Given the description of an element on the screen output the (x, y) to click on. 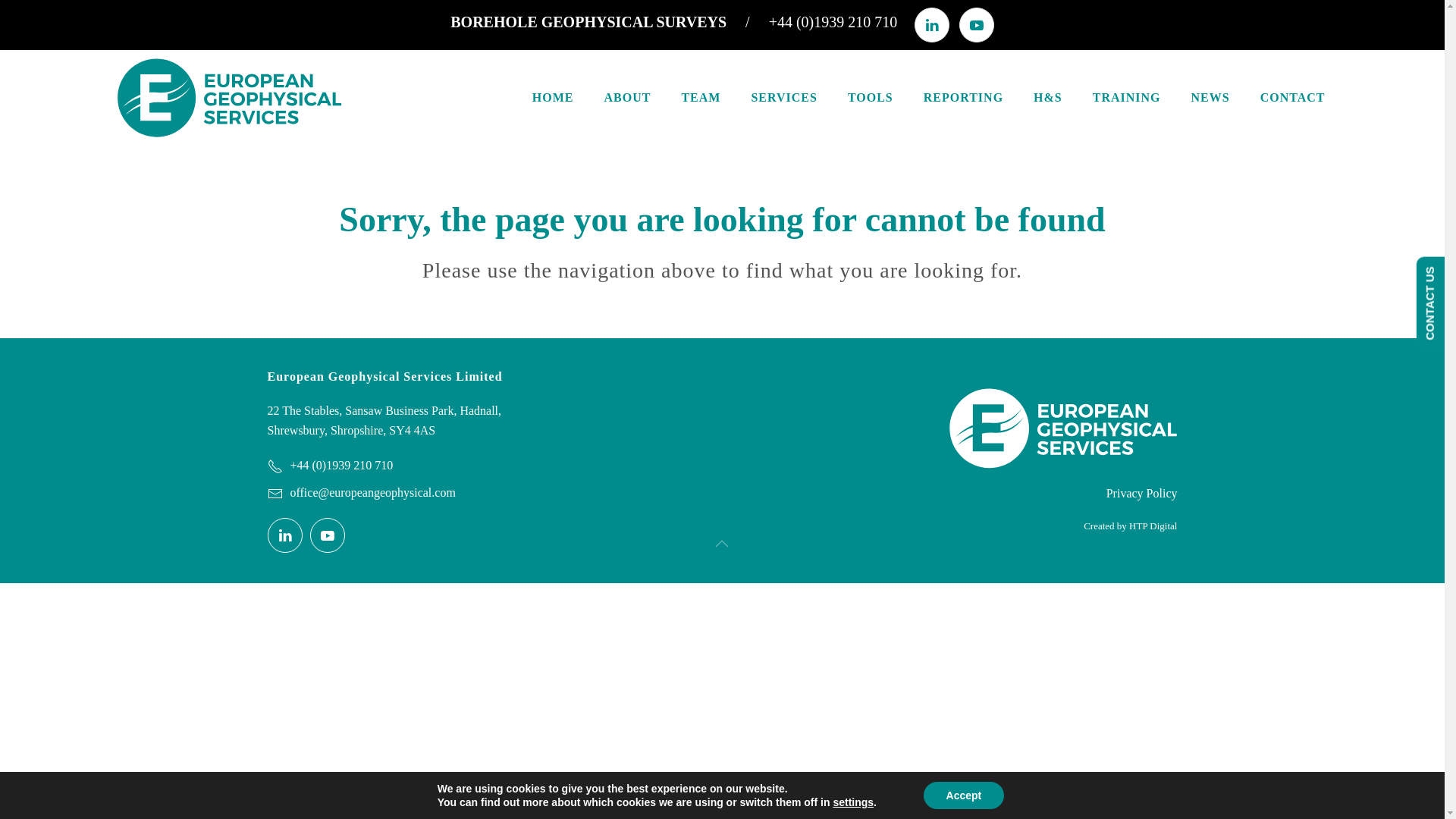
Privacy Policy (1034, 493)
TRAINING (1126, 97)
SERVICES (783, 97)
Created by HTP Digital (1034, 525)
CONTACT (1292, 97)
European Geophysical Services Limited (408, 376)
REPORTING (963, 97)
